Given the description of an element on the screen output the (x, y) to click on. 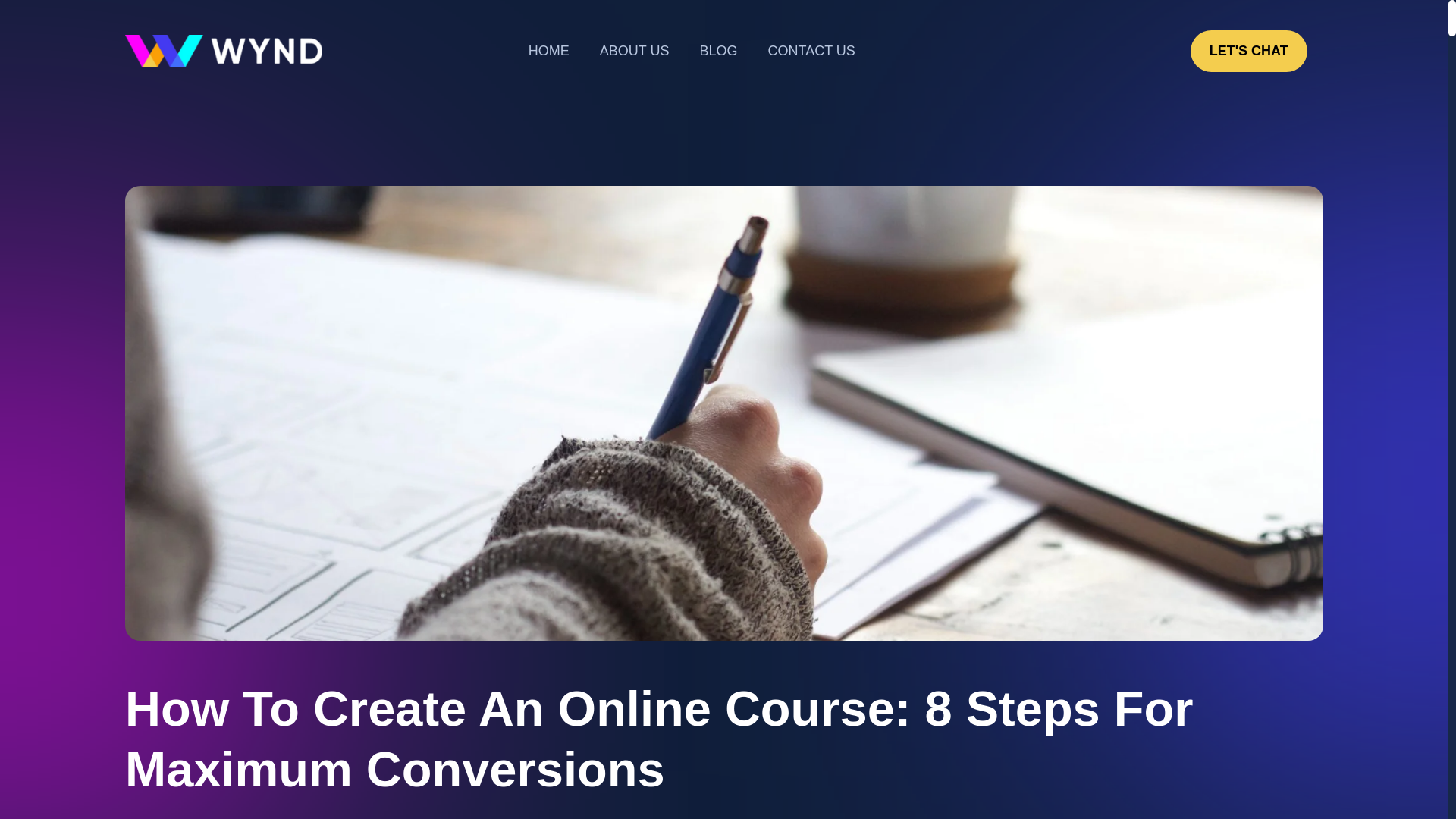
LET'S CHAT (1249, 51)
ABOUT US (634, 51)
HOME (549, 51)
BLOG (718, 51)
CONTACT US (810, 51)
